Given the description of an element on the screen output the (x, y) to click on. 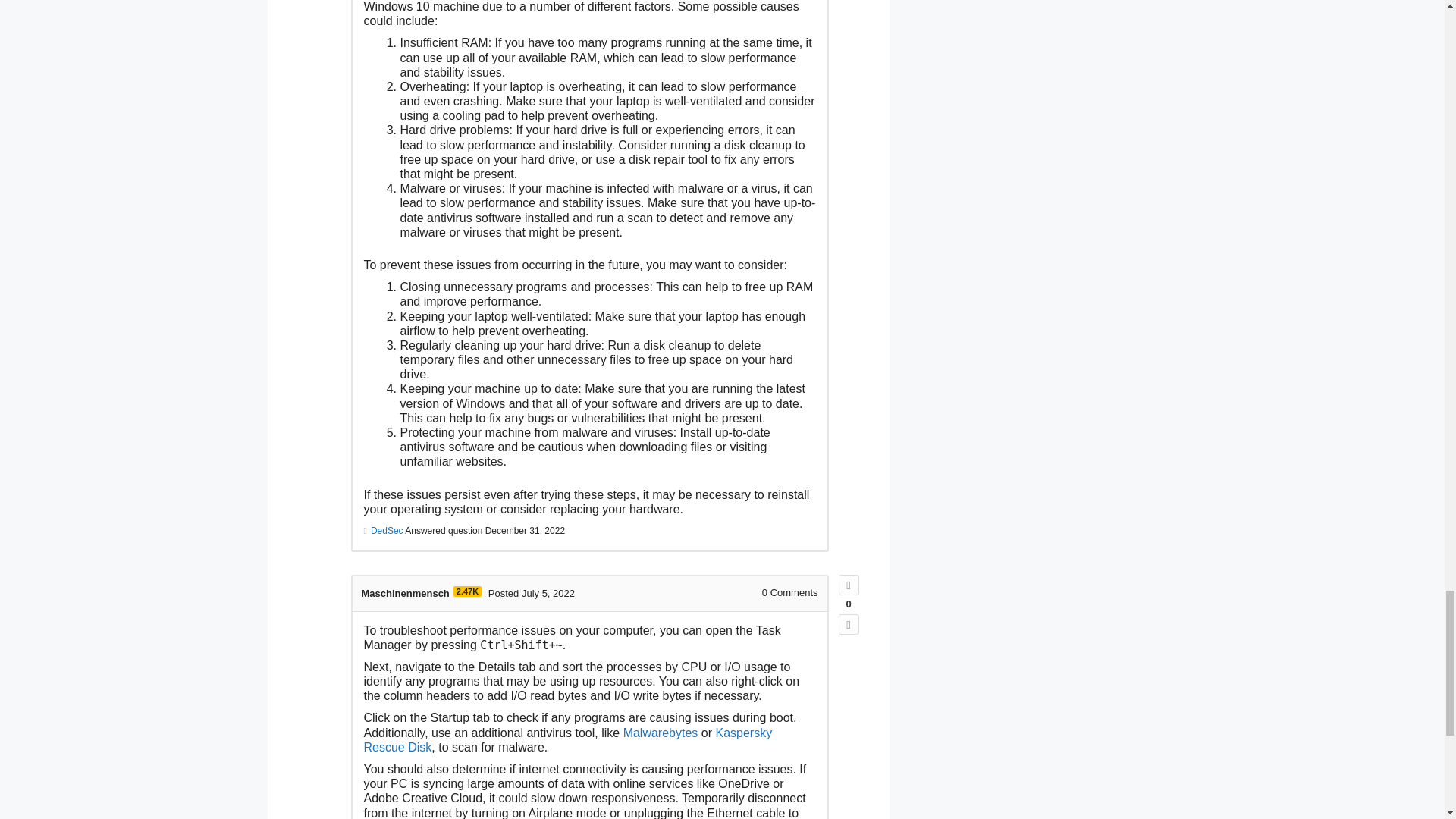
2.47K (466, 591)
DedSec (387, 530)
Kaspersky Rescue Disk (568, 739)
Maschinenmensch (404, 593)
Malwarebytes (660, 732)
